Given the description of an element on the screen output the (x, y) to click on. 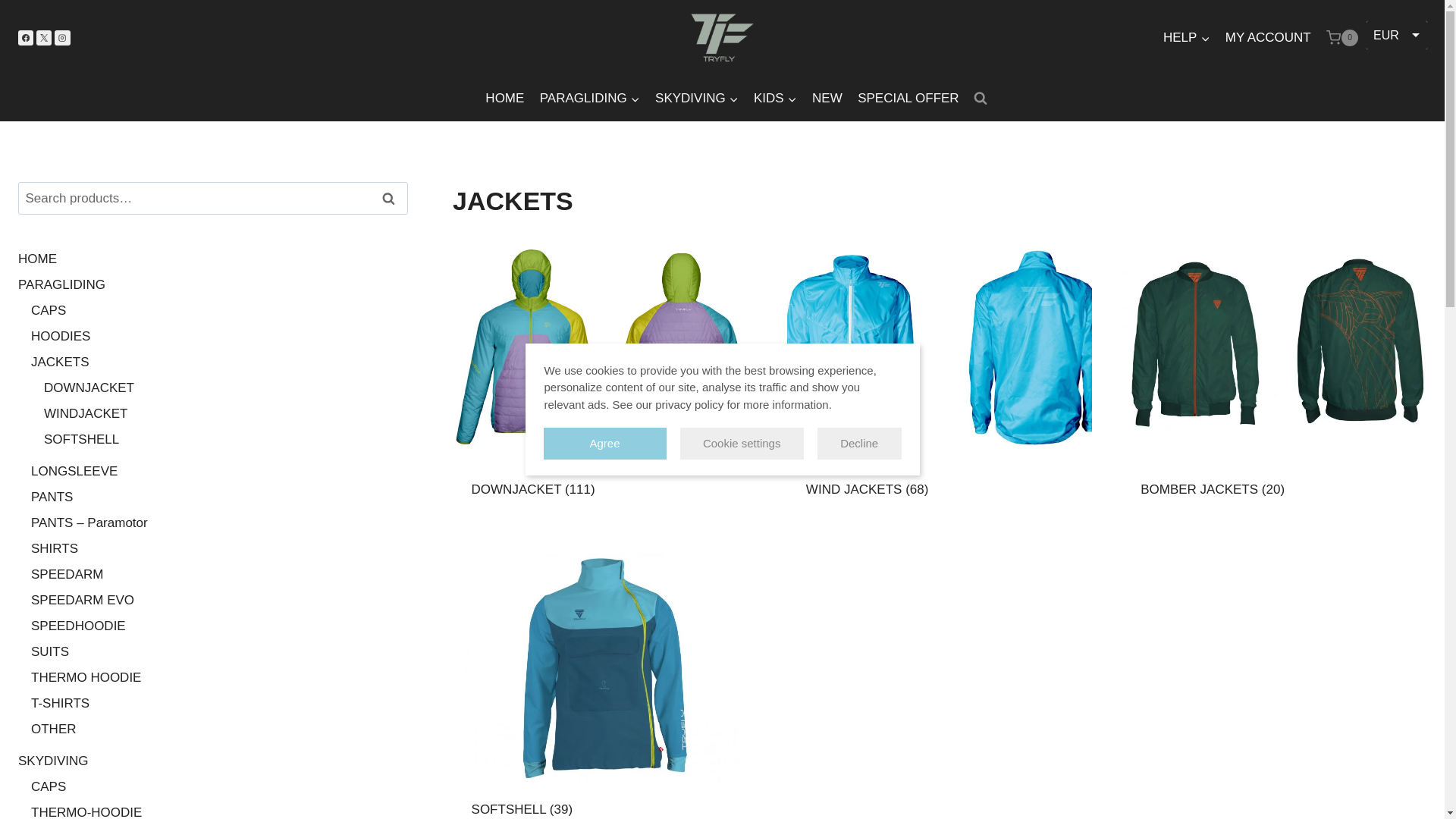
0 (1342, 37)
MY ACCOUNT (1268, 37)
SKYDIVING (696, 98)
HELP (1186, 37)
HOME (504, 98)
PARAGLIDING (589, 98)
